Given the description of an element on the screen output the (x, y) to click on. 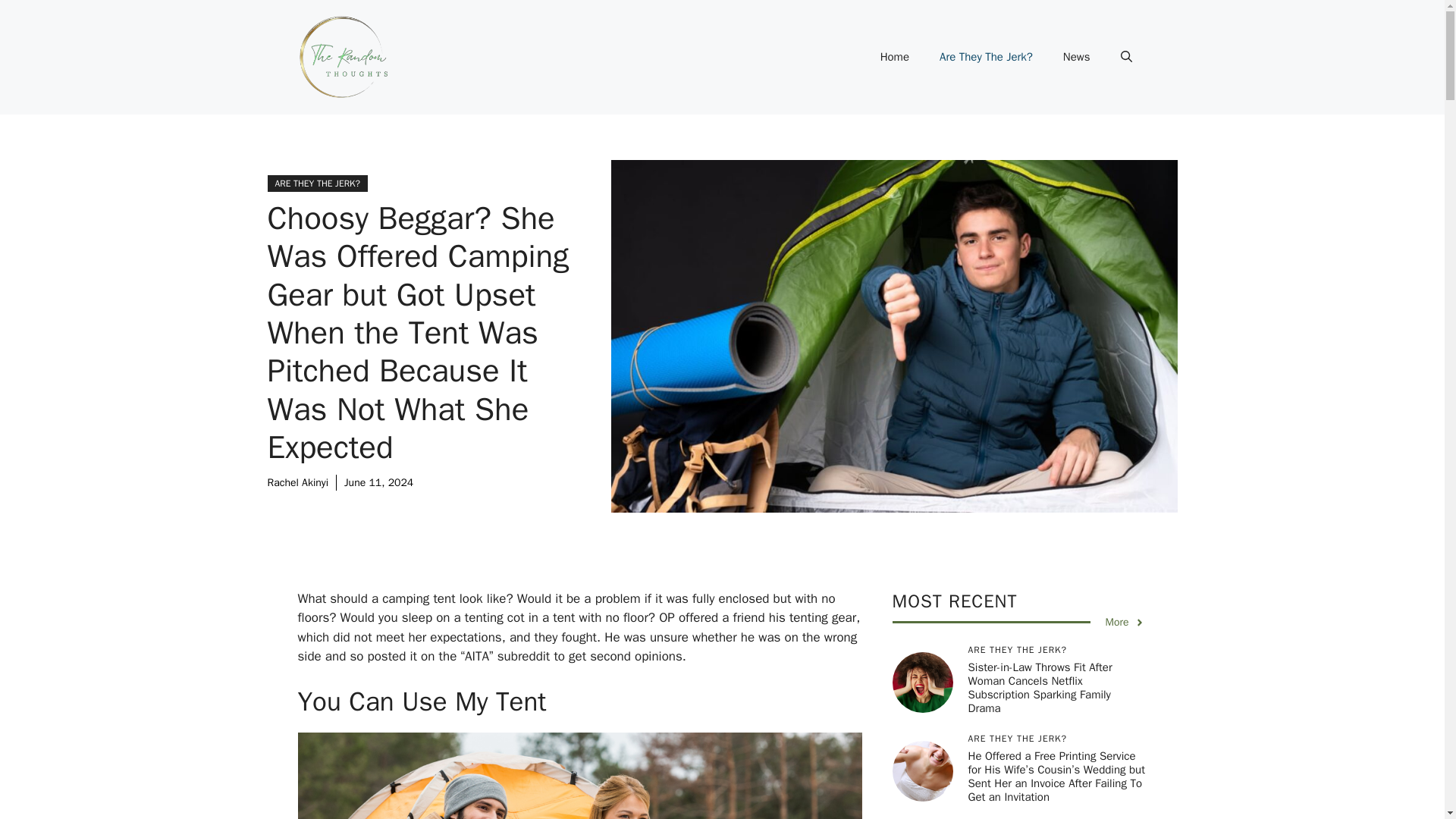
More (1124, 621)
ARE THEY THE JERK? (316, 183)
Home (894, 56)
News (1076, 56)
Rachel Akinyi (297, 481)
Are They The Jerk? (986, 56)
